Given the description of an element on the screen output the (x, y) to click on. 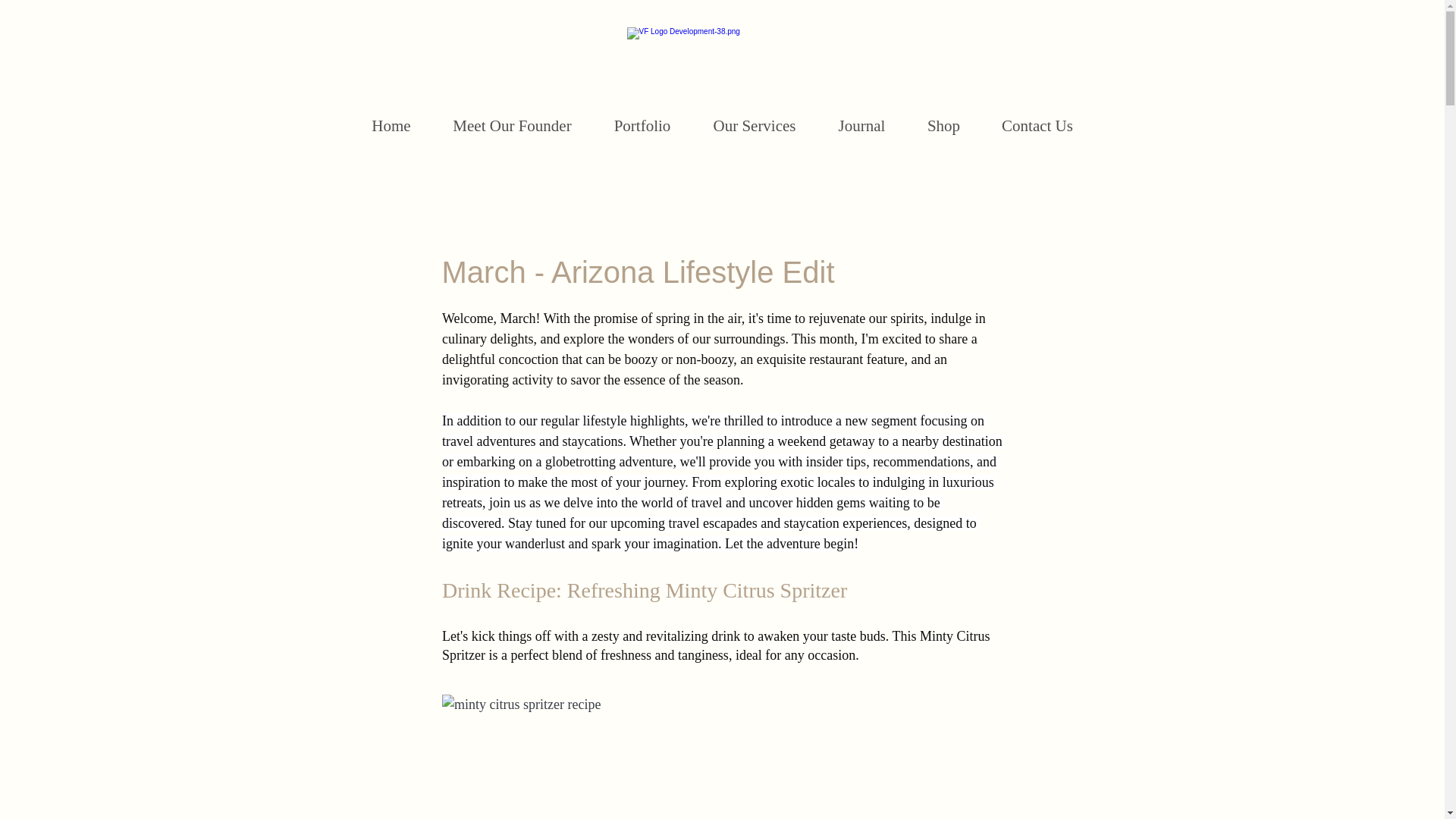
Contact Us (1037, 125)
Home (390, 125)
Portfolio (642, 125)
Meet Our Founder (512, 125)
Journal (861, 125)
